Given the description of an element on the screen output the (x, y) to click on. 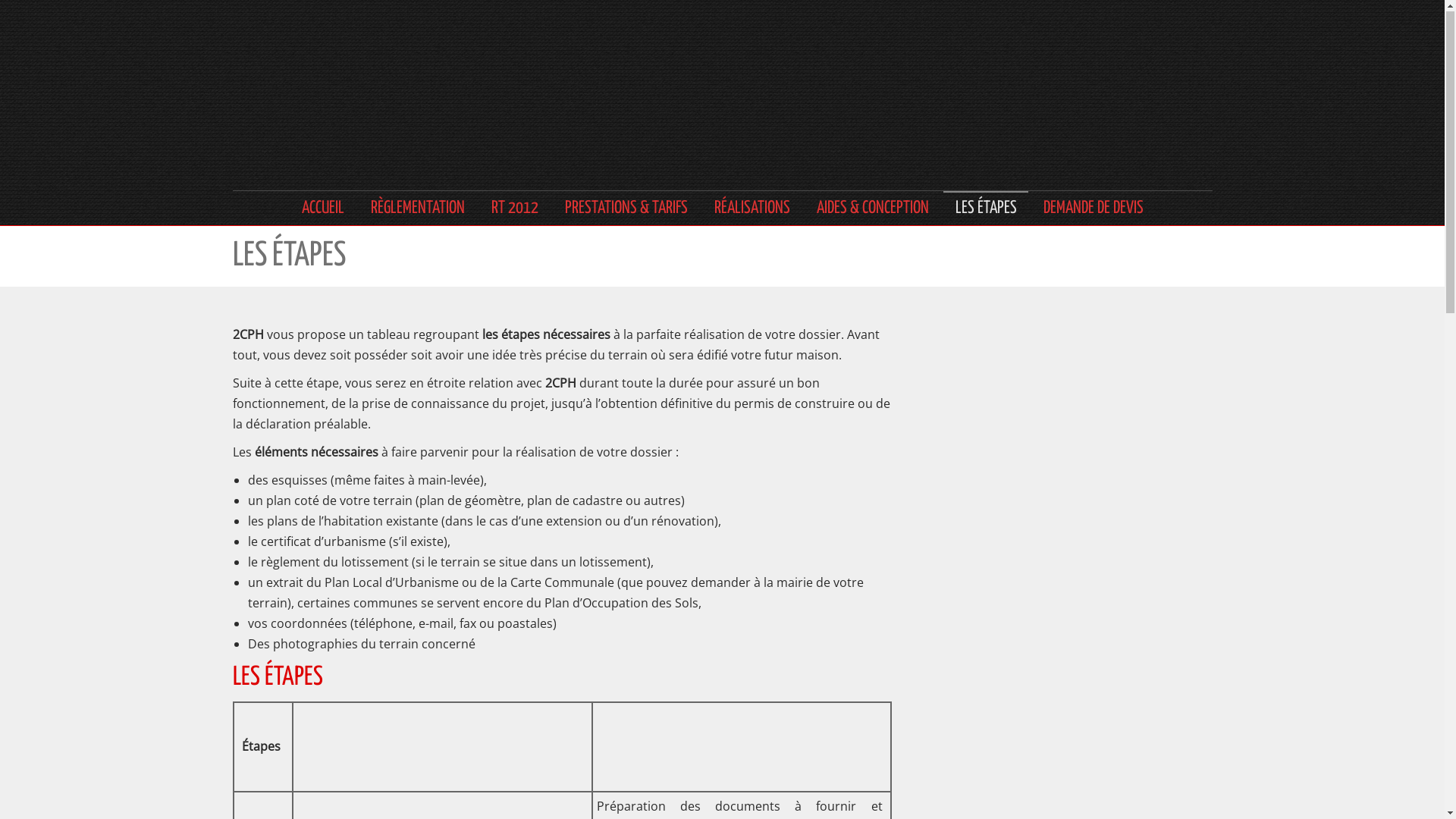
graficjooz.com Element type: text (1179, 796)
RT 2012 Element type: text (762, 596)
ACCUEIL Element type: text (322, 208)
Documents administratifs Element type: text (1061, 631)
AIDES & CONCEPTION Element type: text (872, 208)
Accueil Element type: text (509, 562)
Prestations & Tarifs AP Element type: text (800, 699)
Permis de Construire Element type: text (544, 596)
Assurances Element type: text (520, 733)
Aides & Conception Element type: text (792, 733)
Contact Element type: text (1015, 596)
Demande de devis Element type: text (1043, 562)
Prestations & Tarifs PC Element type: text (800, 631)
Prestations & Tarifs DP Element type: text (800, 665)
Paiement et Livraison Element type: text (1050, 665)
Surface Plancher / Emprise au Sol Element type: text (828, 562)
DEMANDE DE DEVIS Element type: text (1092, 208)
PRESTATIONS & TARIFS Element type: text (625, 208)
RT 2012 Element type: text (514, 208)
